Given the description of an element on the screen output the (x, y) to click on. 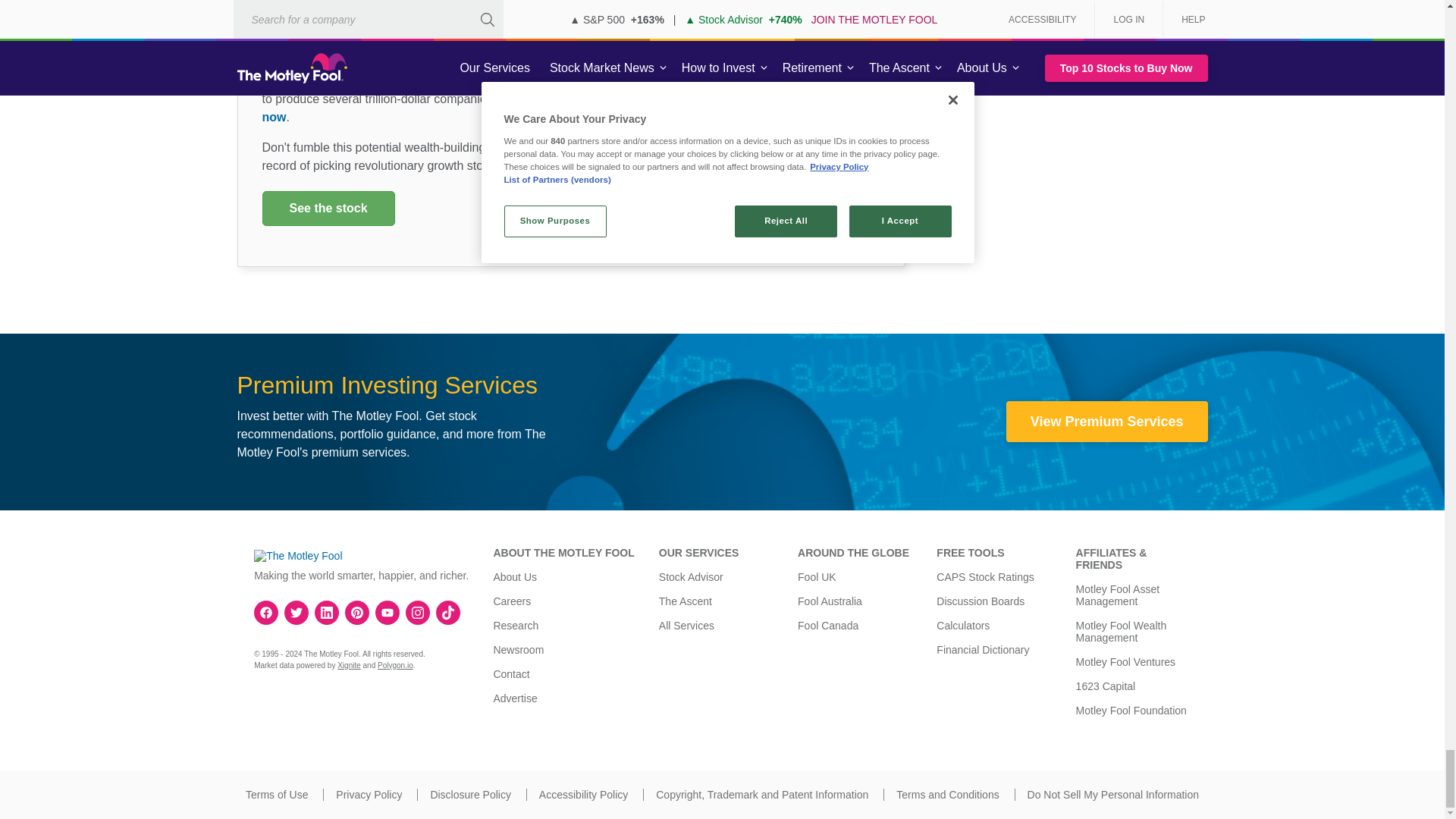
Privacy Policy (368, 794)
Terms of Use (276, 794)
Disclosure Policy (470, 794)
Accessibility Policy (582, 794)
Copyright, Trademark and Patent Information (761, 794)
Do Not Sell My Personal Information. (1112, 794)
Terms and Conditions (947, 794)
